Given the description of an element on the screen output the (x, y) to click on. 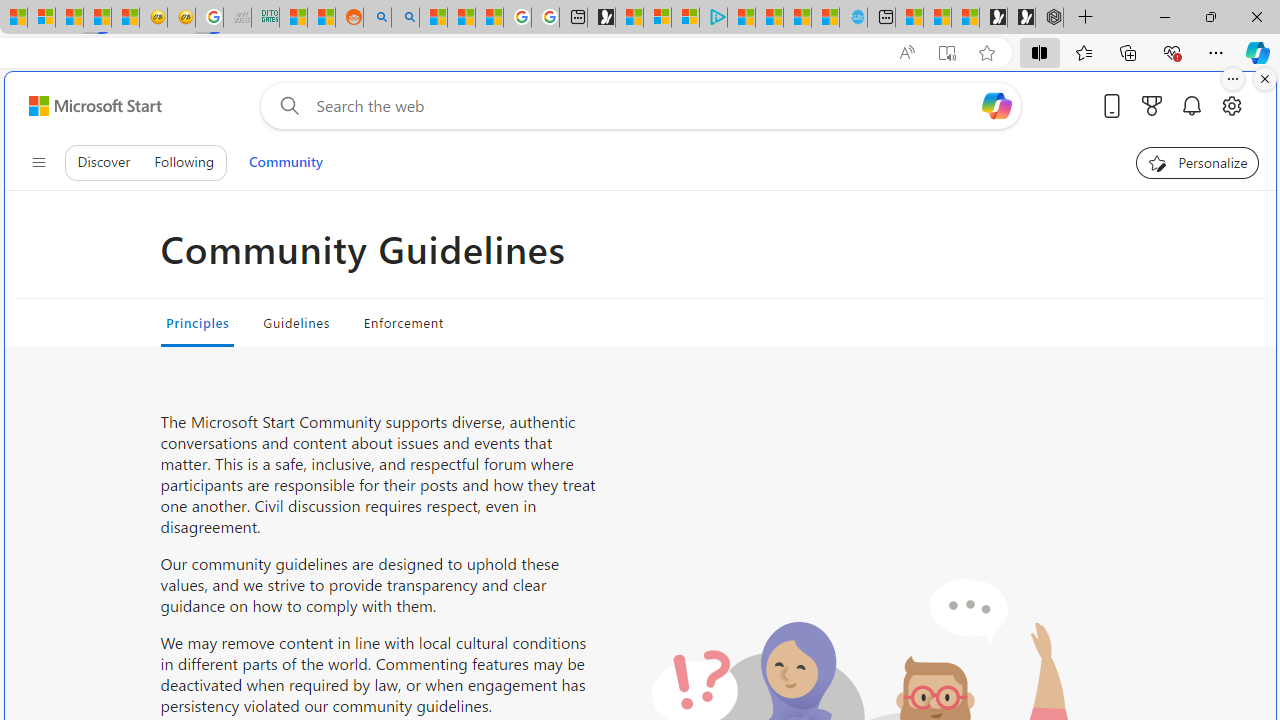
DITOGAMES AG Imprint (265, 17)
Microsoft Start Gaming (601, 17)
